Given the description of an element on the screen output the (x, y) to click on. 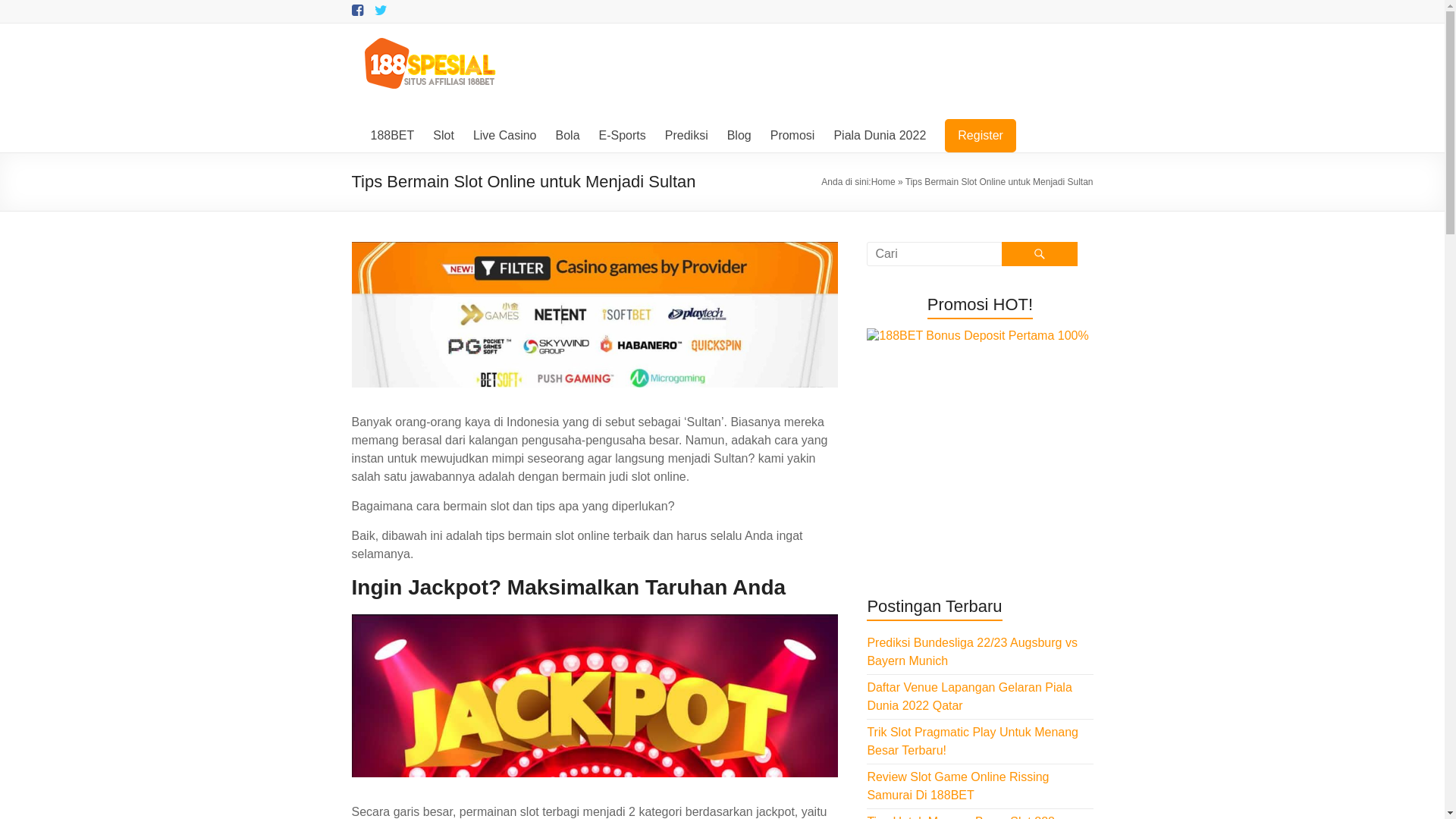
Live Casino Element type: text (504, 135)
Register Element type: text (980, 135)
Review Slot Game Online Rissing Samurai Di 188BET Element type: text (957, 785)
E-Sports Element type: text (622, 135)
Prediksi Bundesliga 22/23 Augsburg vs Bayern Munich Element type: text (971, 651)
188BET Element type: text (399, 54)
Blog Element type: text (739, 135)
Promosi HOT! Element type: hover (979, 441)
Piala Dunia 2022 Element type: text (879, 135)
Promosi Element type: text (792, 135)
Home Element type: text (883, 181)
Slot Element type: text (443, 135)
Bola Element type: text (567, 135)
Trik Slot Pragmatic Play Untuk Menang Besar Terbaru! Element type: text (972, 740)
Prediksi Element type: text (686, 135)
Daftar Venue Lapangan Gelaran Piala Dunia 2022 Qatar Element type: text (968, 696)
188BET Element type: text (392, 135)
